Given the description of an element on the screen output the (x, y) to click on. 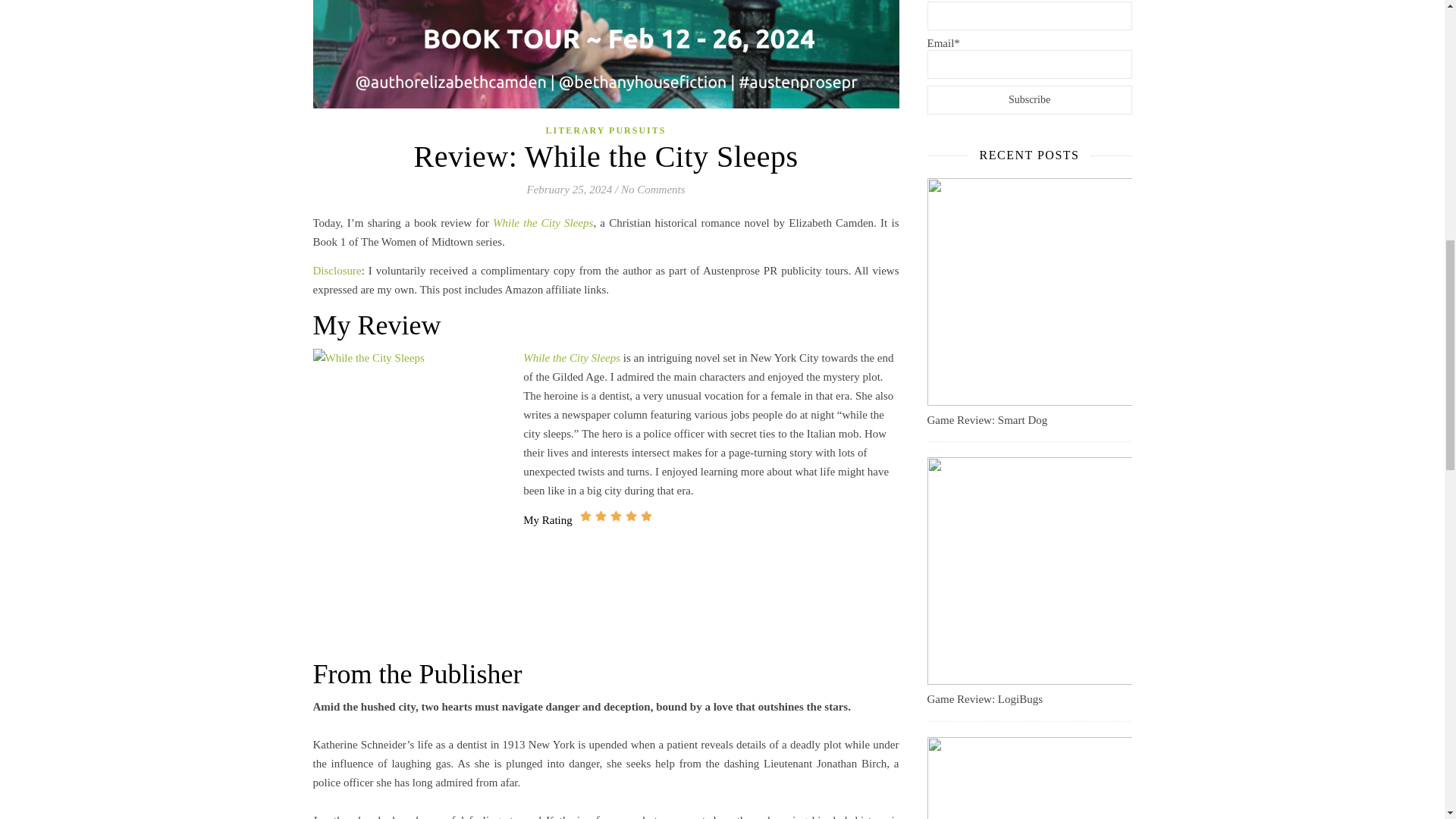
Subscribe (1028, 99)
